Given the description of an element on the screen output the (x, y) to click on. 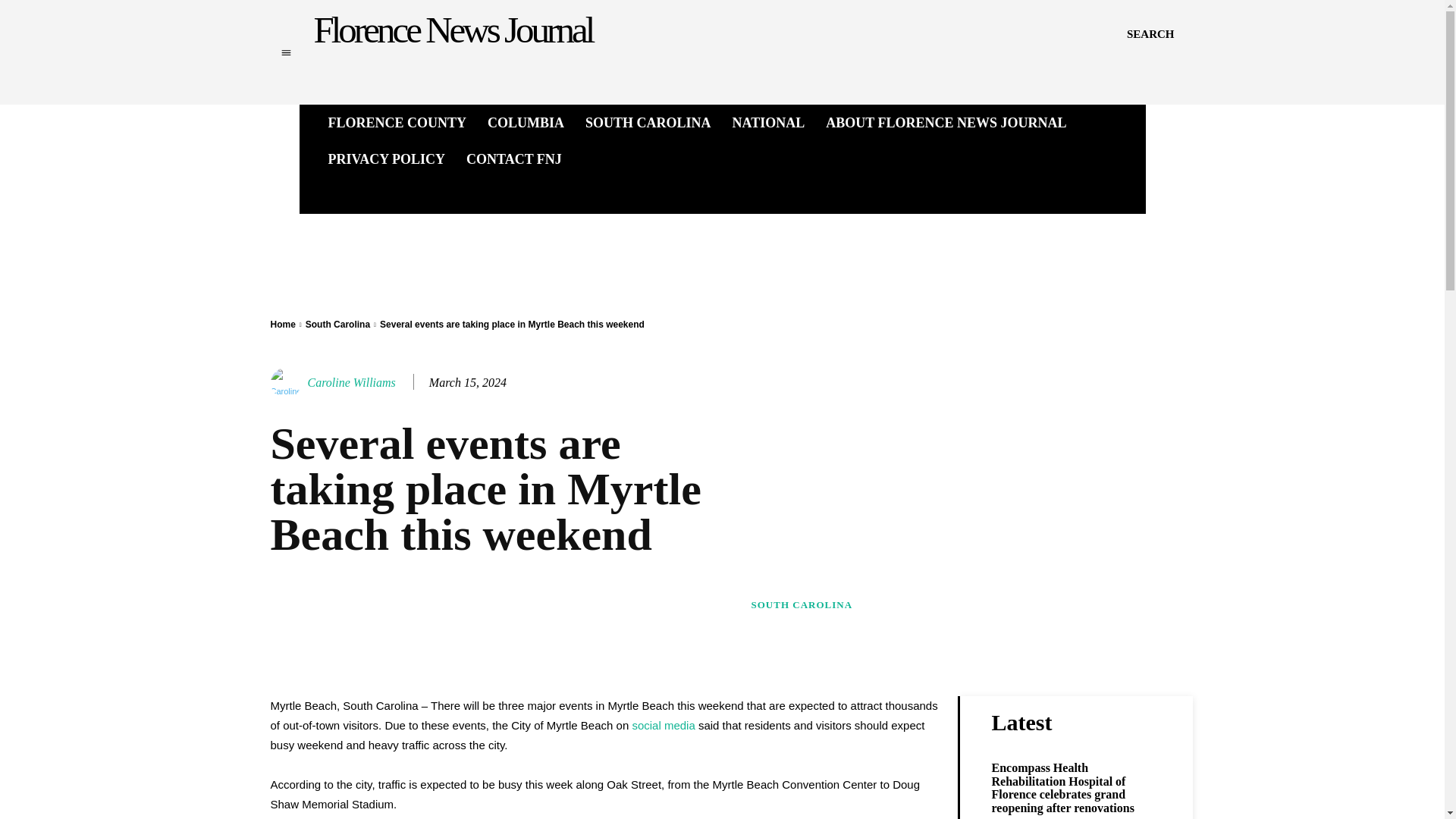
View all posts in South Carolina (337, 324)
SOUTH CAROLINA (648, 122)
COLUMBIA (526, 122)
FLORENCE COUNTY (397, 122)
Florence News Journal (453, 30)
